Given the description of an element on the screen output the (x, y) to click on. 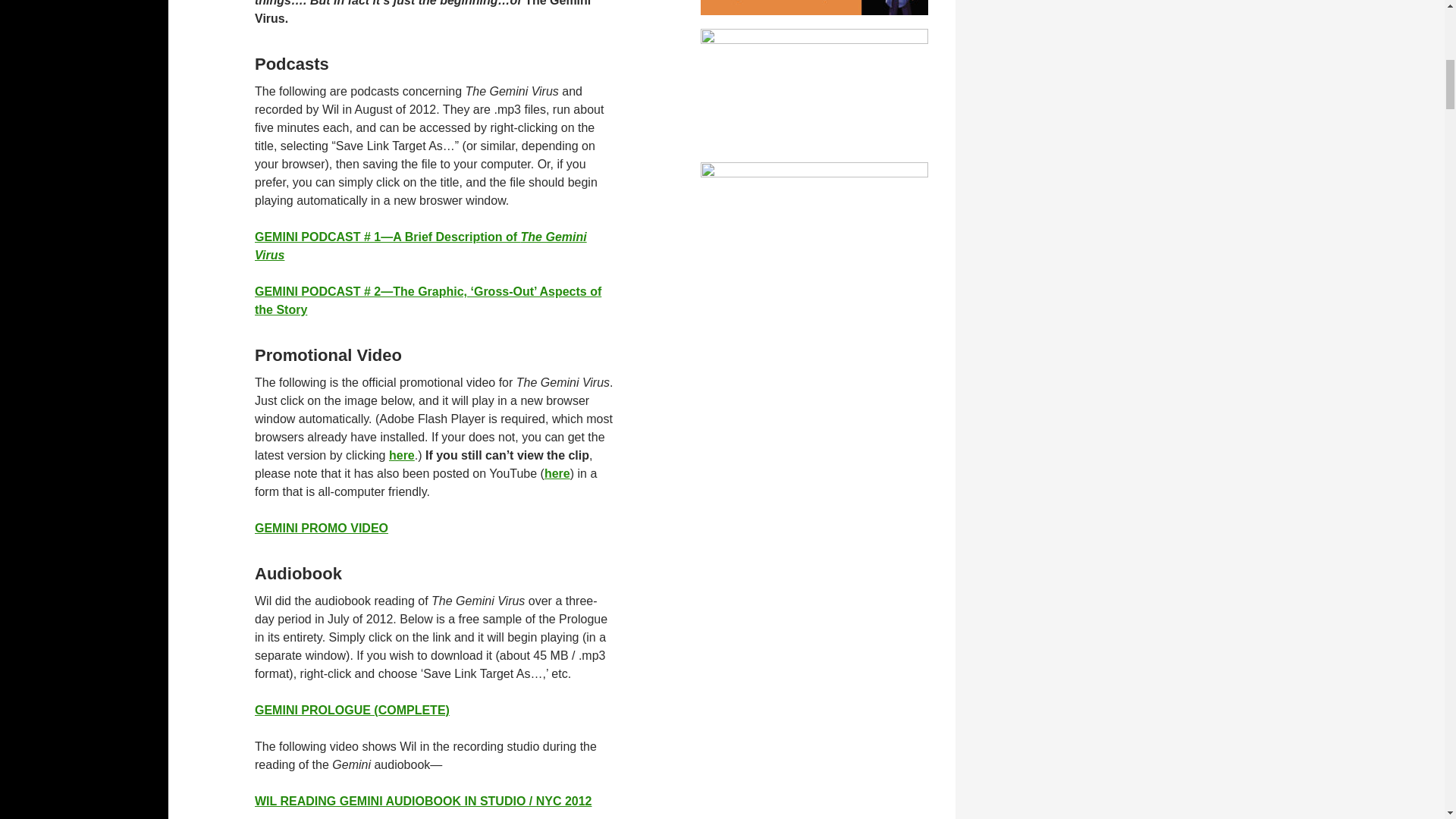
here (557, 472)
here (401, 454)
GEMINI PROMO VIDEO (321, 527)
